Given the description of an element on the screen output the (x, y) to click on. 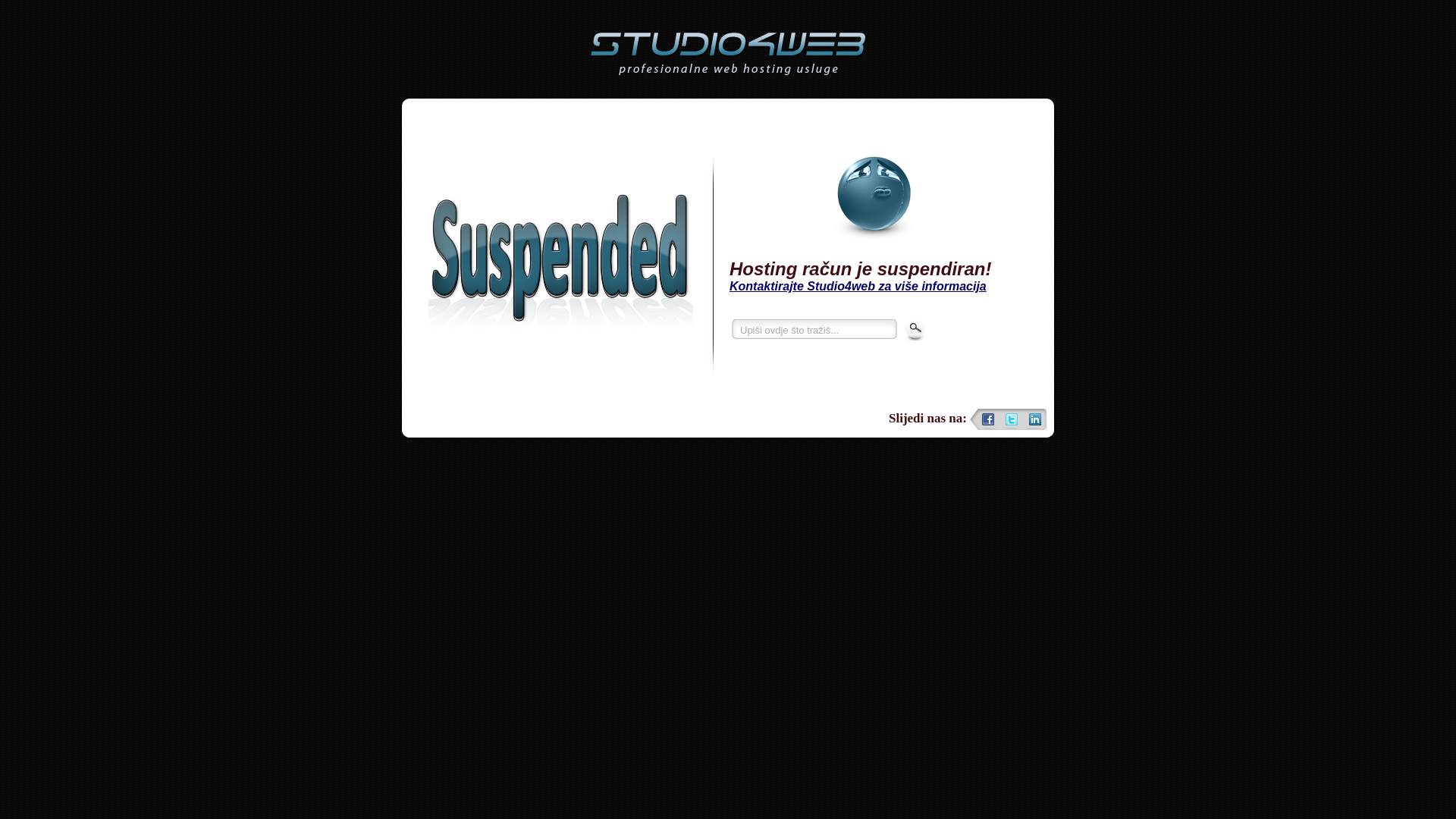
Search (915, 328)
